Given the description of an element on the screen output the (x, y) to click on. 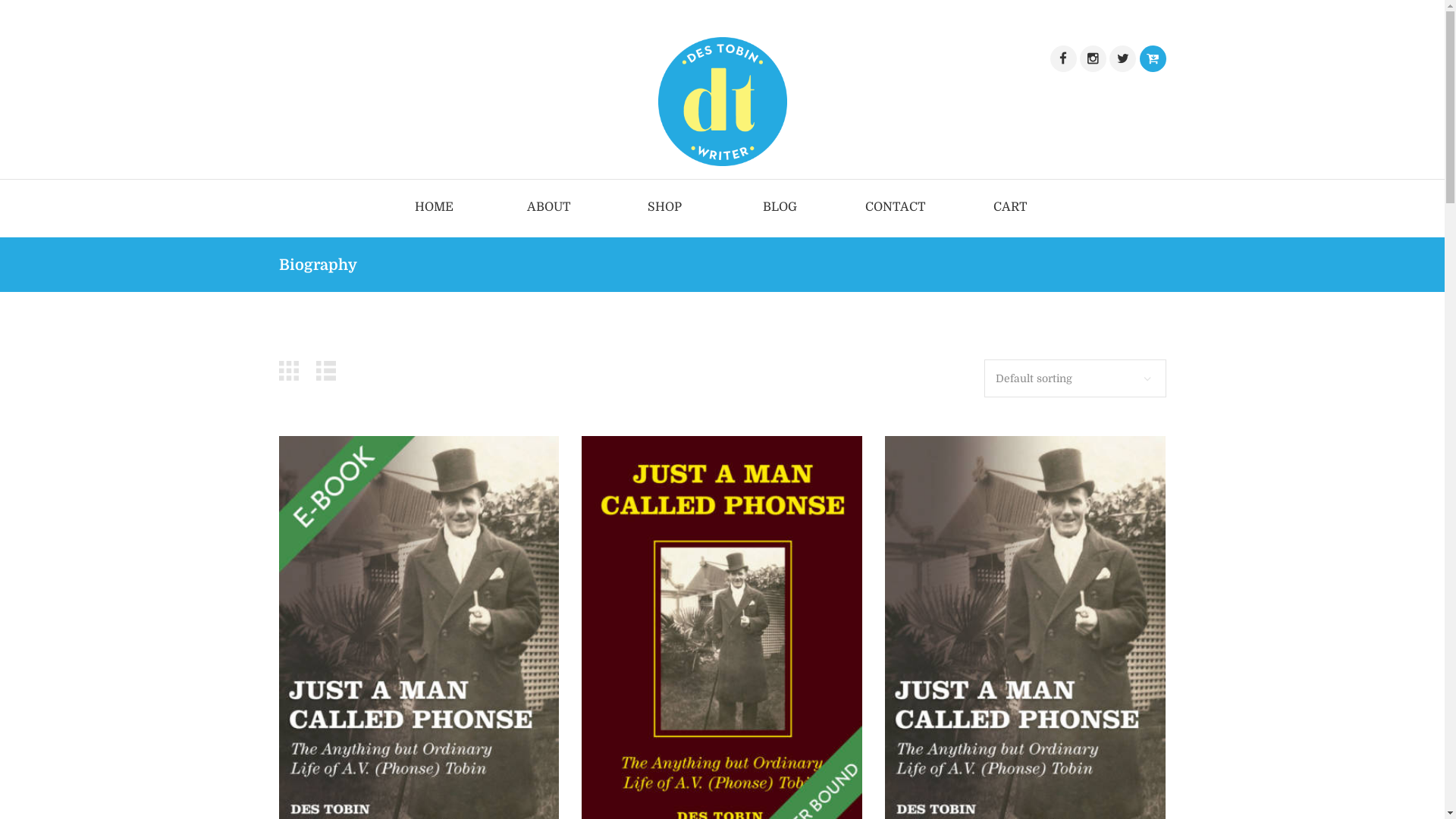
SHOP Element type: text (663, 208)
CONTACT Element type: text (895, 208)
CART Element type: text (1010, 208)
ABOUT Element type: text (548, 208)
Show products as thumbs Element type: hover (292, 371)
Show products as list Element type: hover (329, 371)
BLOG Element type: text (779, 208)
HOME Element type: text (433, 208)
